Given the description of an element on the screen output the (x, y) to click on. 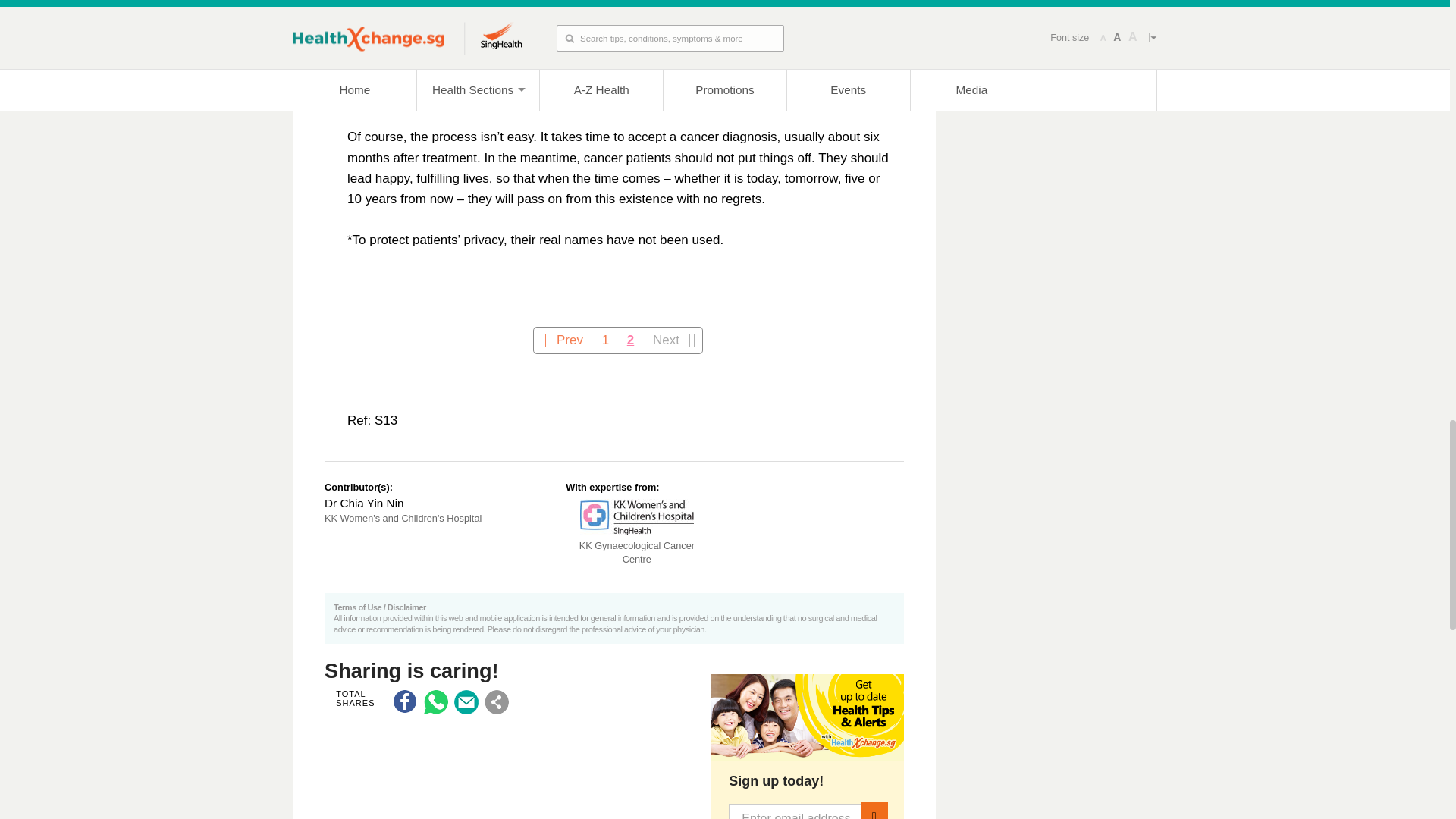
Facebook (405, 702)
Share this Page (496, 702)
Email Us (466, 702)
WhatsApp (435, 702)
